Given the description of an element on the screen output the (x, y) to click on. 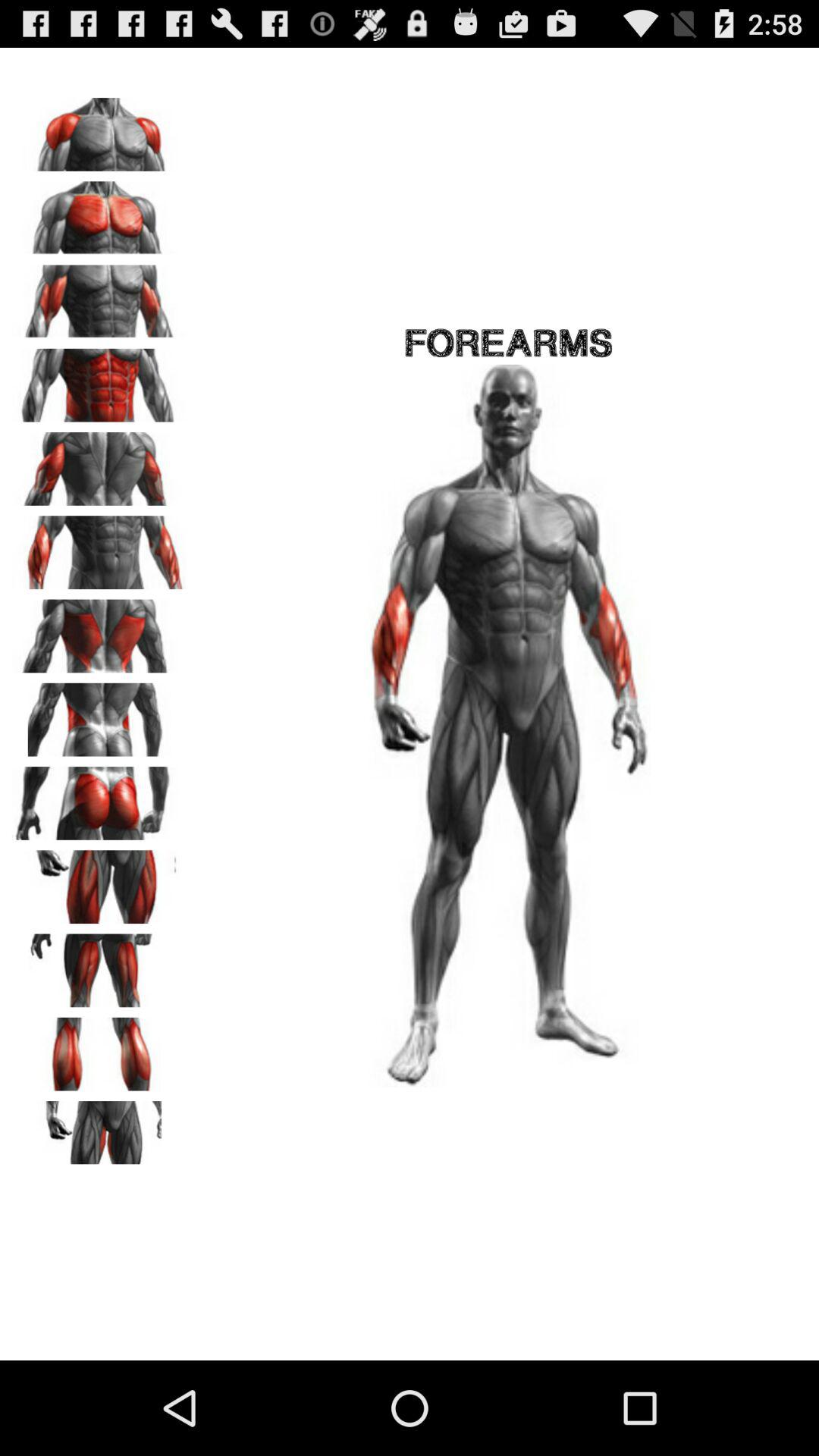
lift objects (99, 714)
